Given the description of an element on the screen output the (x, y) to click on. 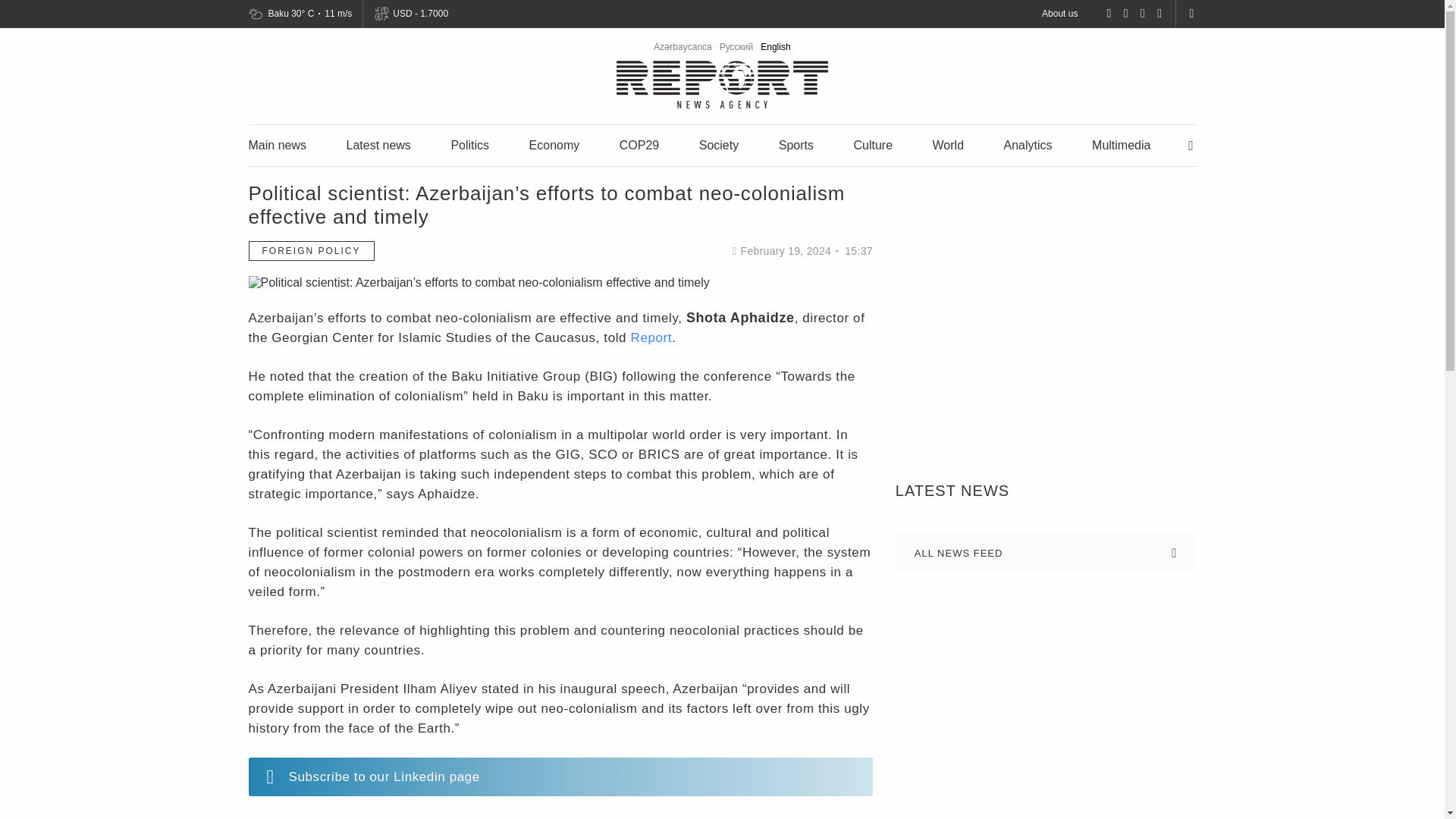
Economy (554, 144)
Multimedia (1121, 144)
Latest news (378, 144)
USD - 1.7000 (418, 13)
Main news (276, 144)
Sports (795, 144)
COP29 (639, 144)
Analytics (1028, 144)
Politics (469, 144)
Society (718, 144)
World (948, 144)
Culture (872, 144)
English (775, 46)
About us (1059, 13)
